Given the description of an element on the screen output the (x, y) to click on. 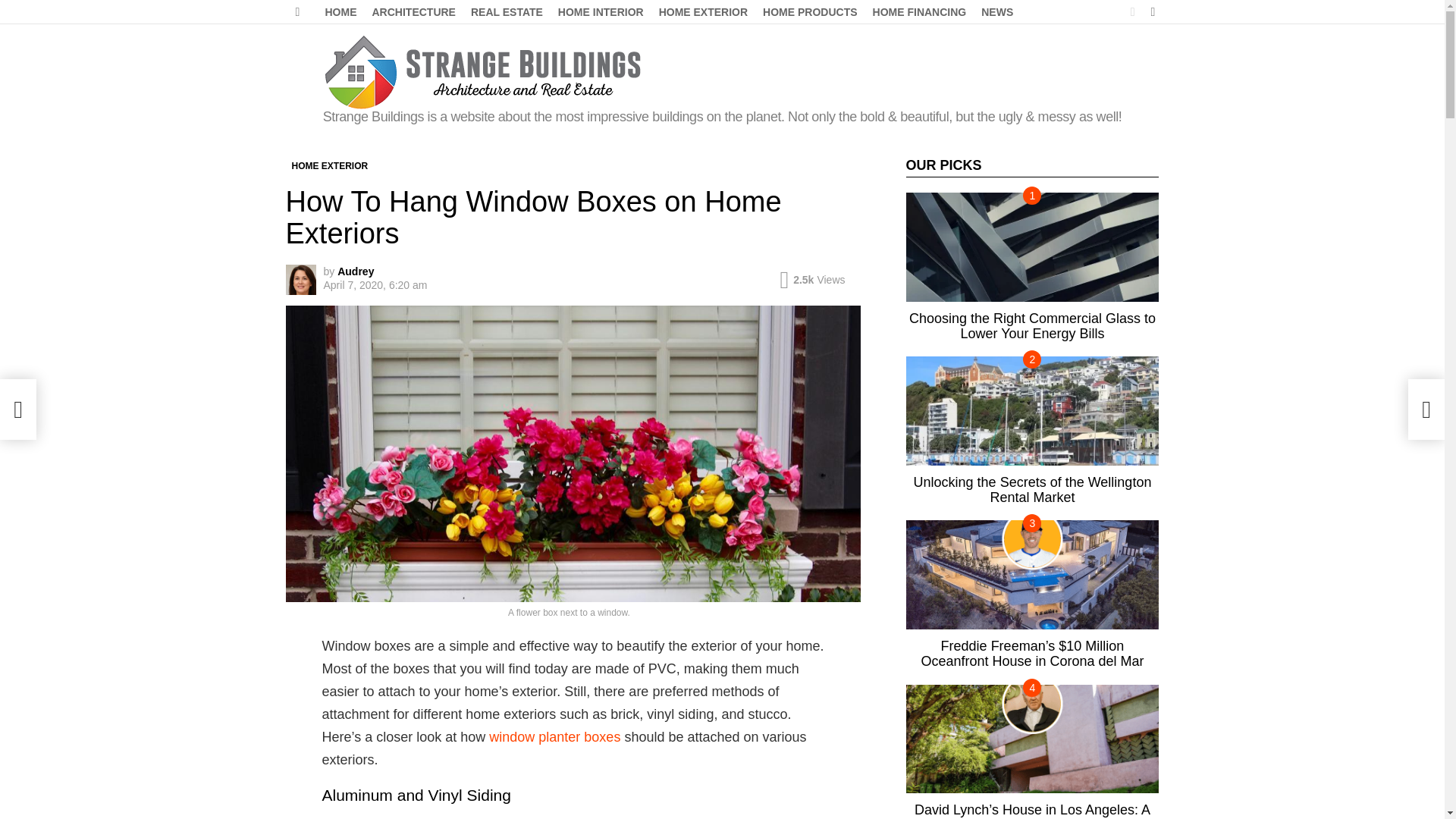
Audrey (355, 271)
Posts by Audrey (355, 271)
HOME INTERIOR (600, 11)
ARCHITECTURE (413, 11)
Menu (296, 12)
window planter boxes (554, 736)
HOME EXTERIOR (329, 165)
NEWS (997, 11)
HOME PRODUCTS (809, 11)
HOME EXTERIOR (702, 11)
